Given the description of an element on the screen output the (x, y) to click on. 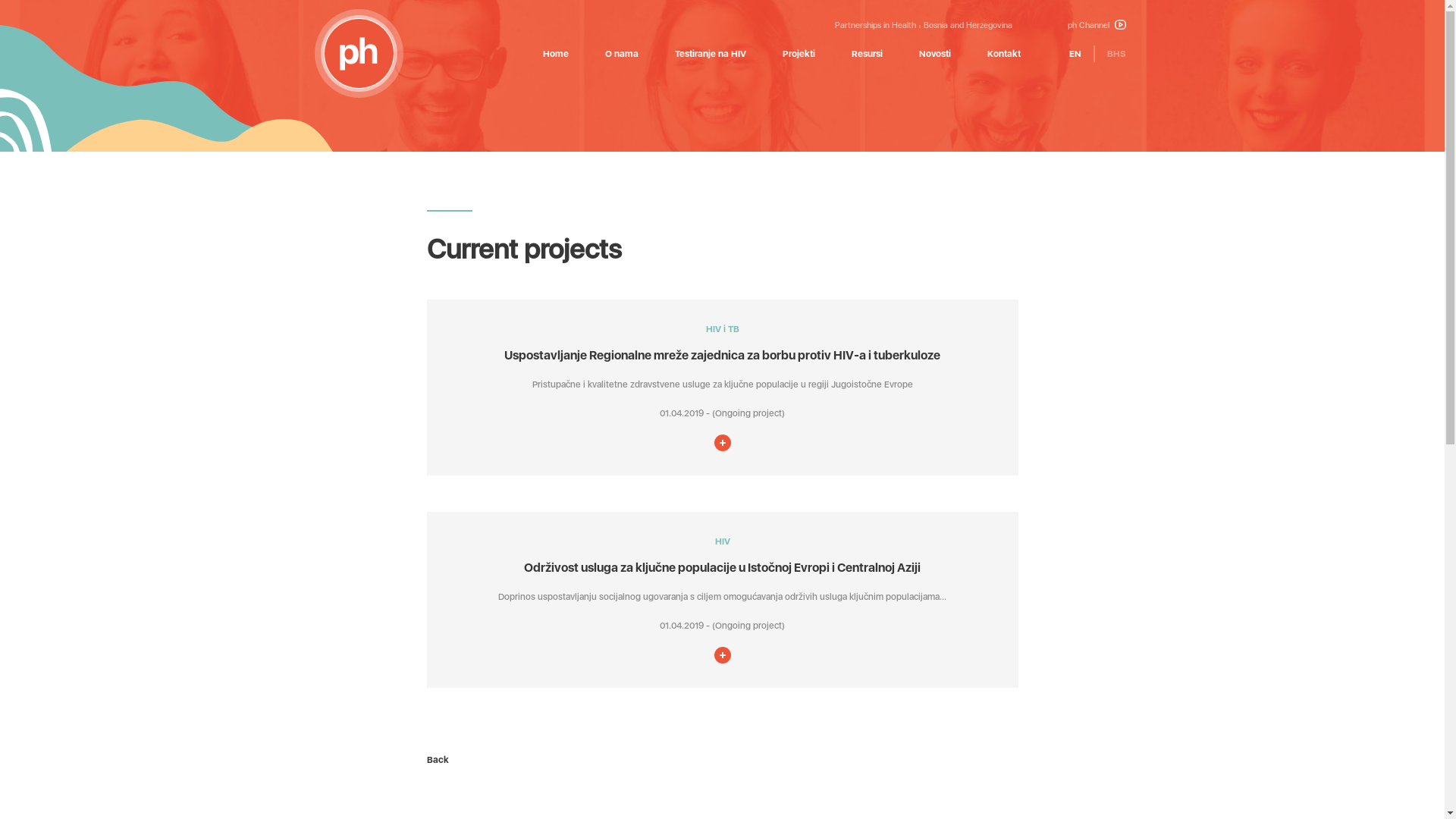
ph Channel Element type: text (1096, 25)
Resursi Element type: text (865, 53)
O nama Element type: text (621, 53)
EN Element type: text (1075, 53)
Partnerships in Health Element type: text (874, 25)
Testiranje na HIV Element type: text (710, 53)
BHS Element type: text (1116, 53)
Home Element type: text (555, 53)
Kontakt Element type: text (1003, 53)
Projekti Element type: text (798, 53)
Bosnia and Herzegovina Element type: text (967, 25)
Novosti Element type: text (934, 53)
